Given the description of an element on the screen output the (x, y) to click on. 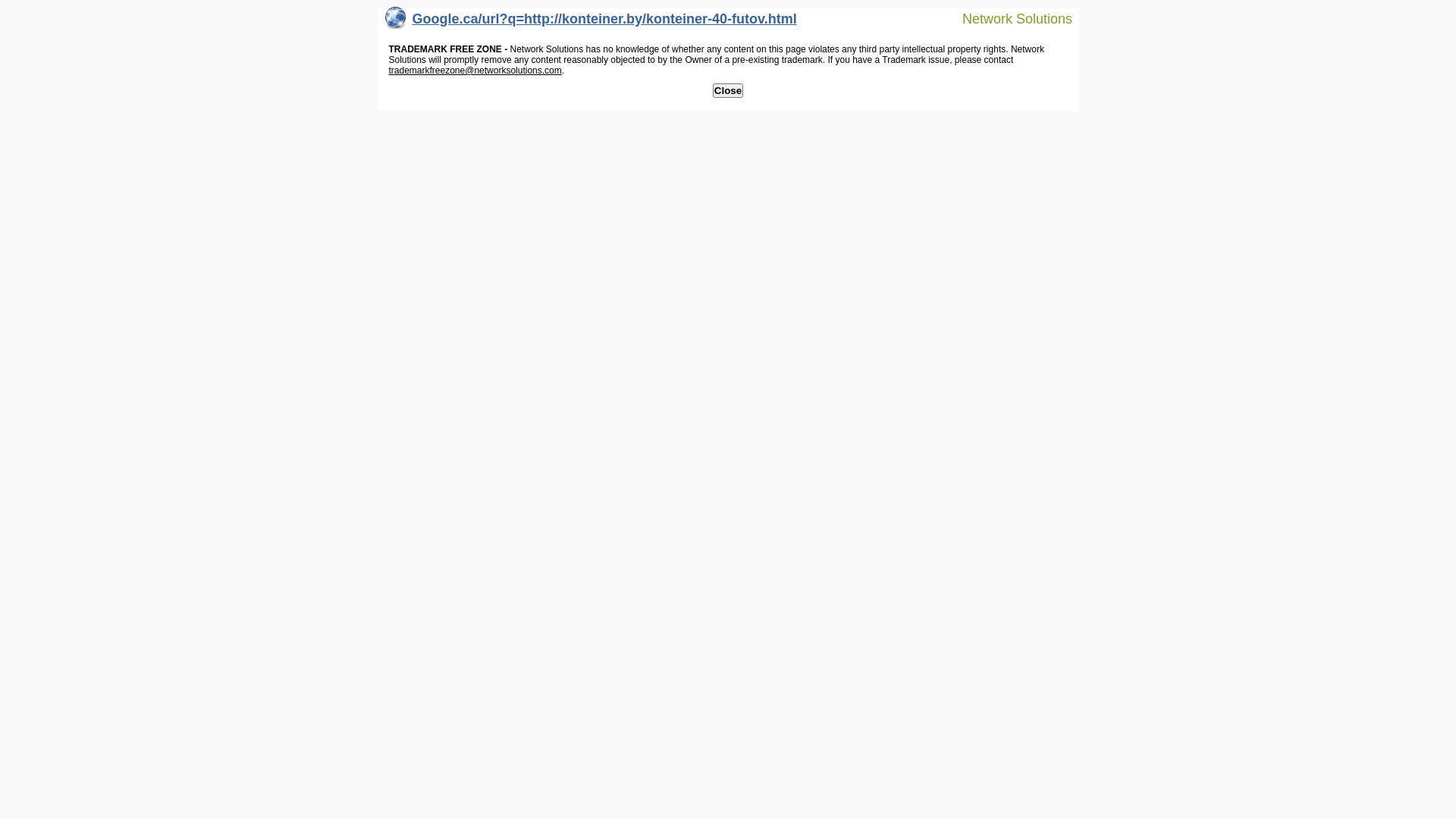
Network Solutions Element type: text (1007, 17)
Google.ca/url?q=http://konteiner.by/konteiner-40-futov.html Element type: text (591, 21)
Close Element type: text (727, 90)
trademarkfreezone@networksolutions.com Element type: text (474, 70)
